Given the description of an element on the screen output the (x, y) to click on. 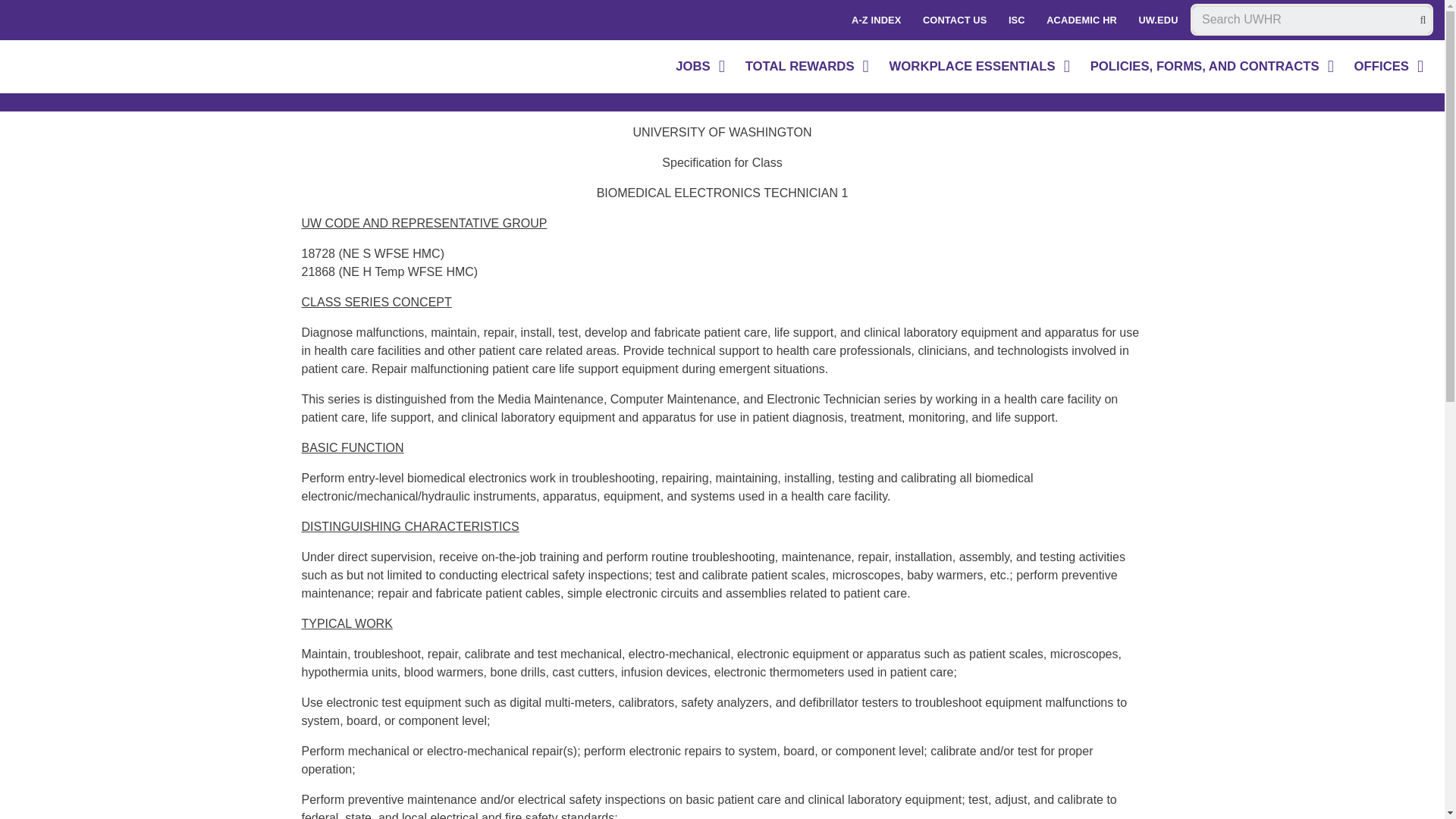
WORKPLACE ESSENTIALS (981, 66)
TOTAL REWARDS (807, 66)
ISC (1015, 19)
UW.EDU (1157, 19)
Search for: (1311, 20)
A-Z INDEX (876, 19)
CONTACT US (954, 19)
University of Washington Human Resources Home (120, 70)
ACADEMIC HR (1080, 19)
JOBS (701, 66)
University of Washington Human Resources Home (120, 70)
